Given the description of an element on the screen output the (x, y) to click on. 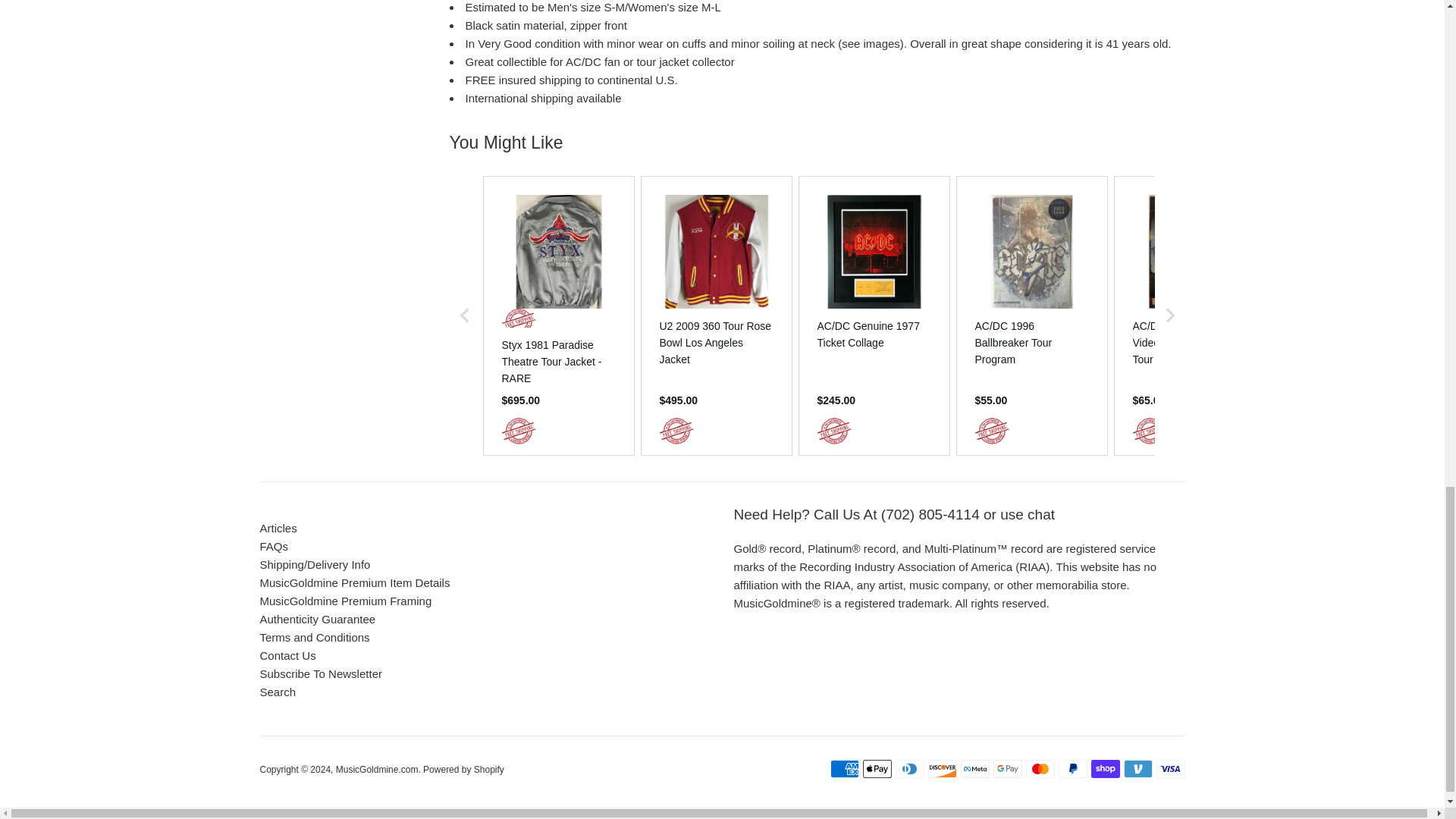
Mastercard (1039, 769)
Discover (942, 769)
Meta Pay (973, 769)
Google Pay (1007, 769)
PayPal (1072, 769)
Diners Club (909, 769)
Styx 1981 Paradise Theatre Tour Jacket - RARE (558, 361)
American Express (844, 769)
U2 2009 360 Tour Rose Bowl Los Angeles Jacket (716, 342)
Apple Pay (877, 769)
